Given the description of an element on the screen output the (x, y) to click on. 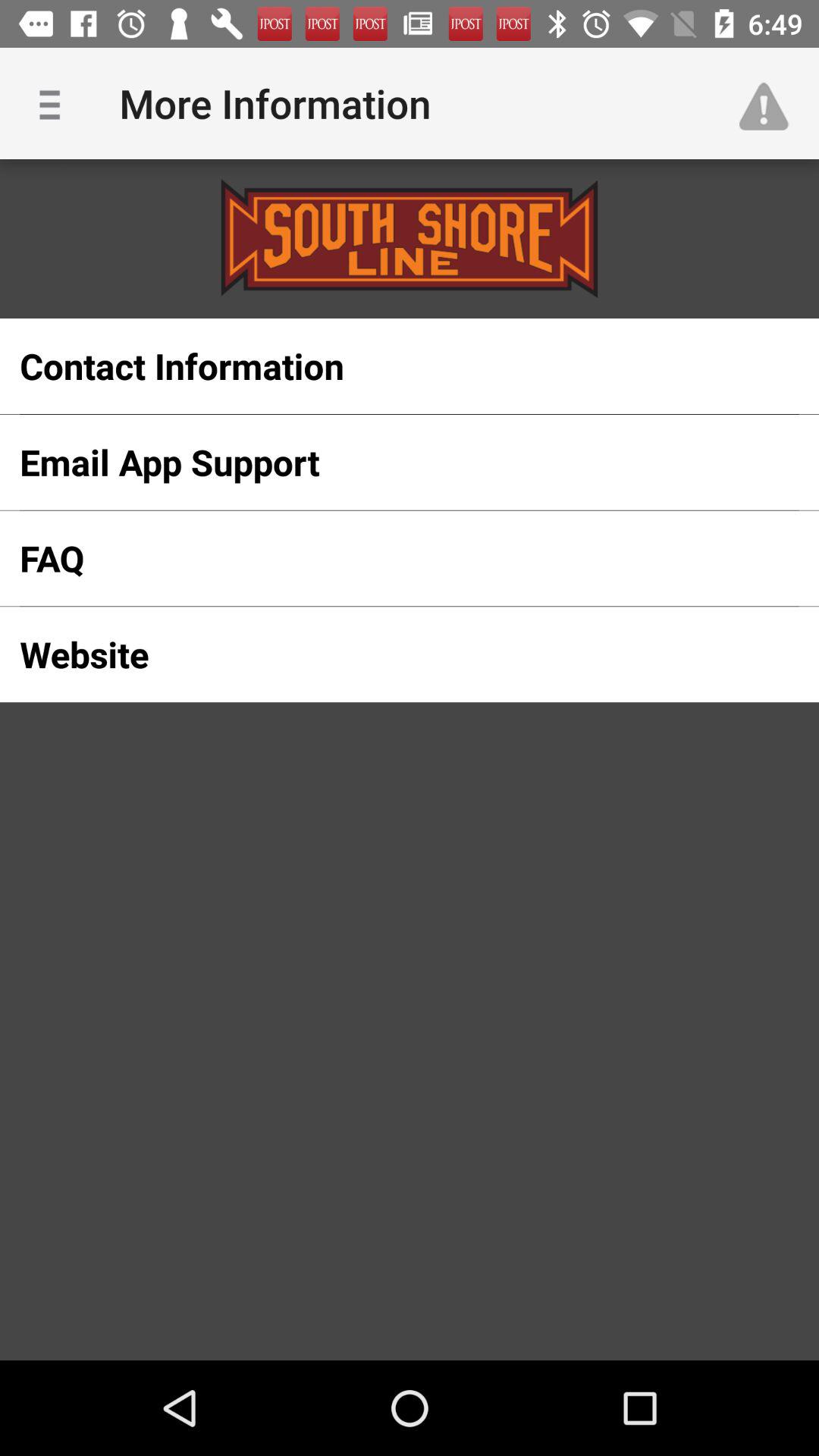
launch contact information item (385, 366)
